Given the description of an element on the screen output the (x, y) to click on. 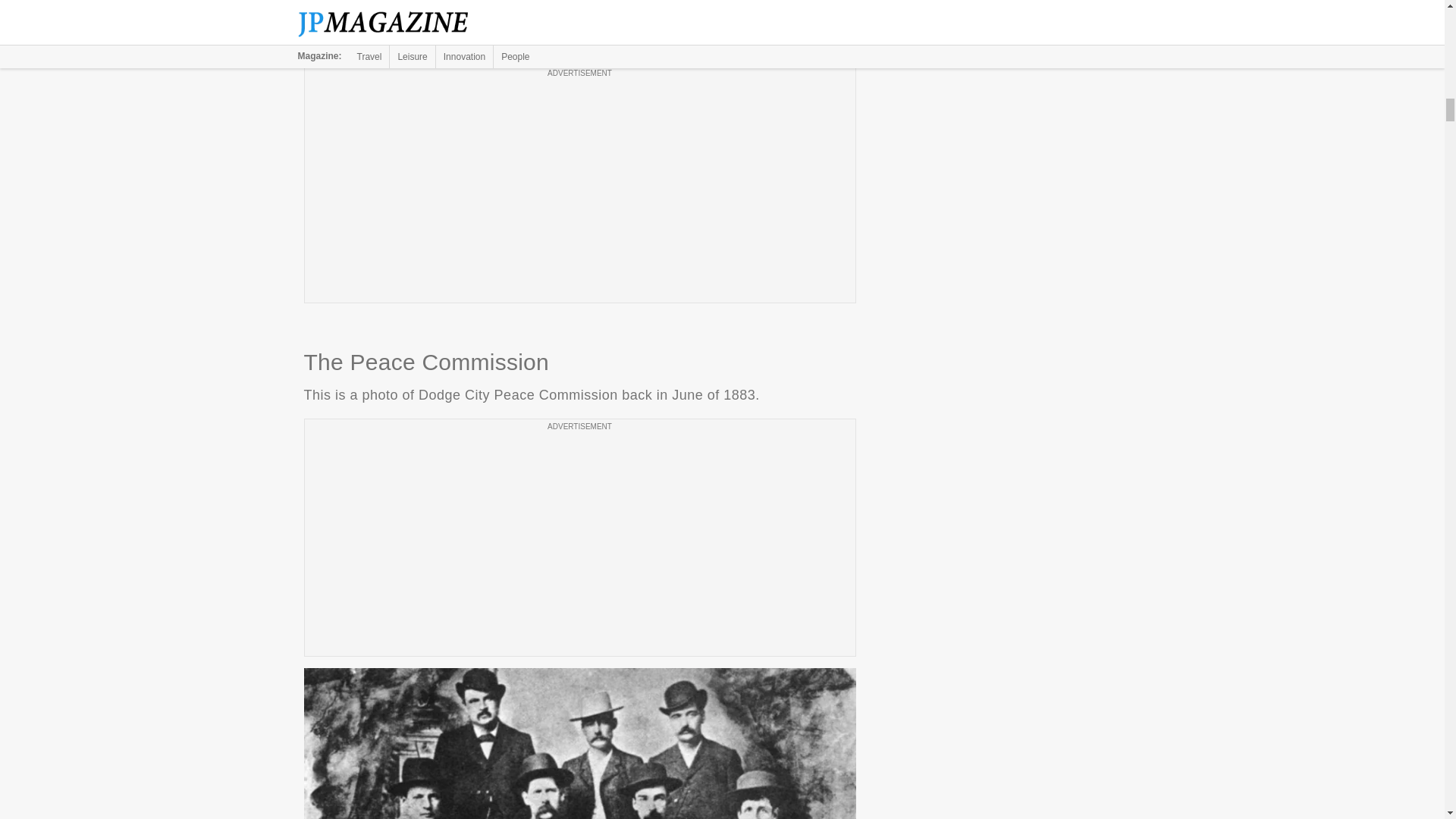
The Peace Commission (579, 743)
